Given the description of an element on the screen output the (x, y) to click on. 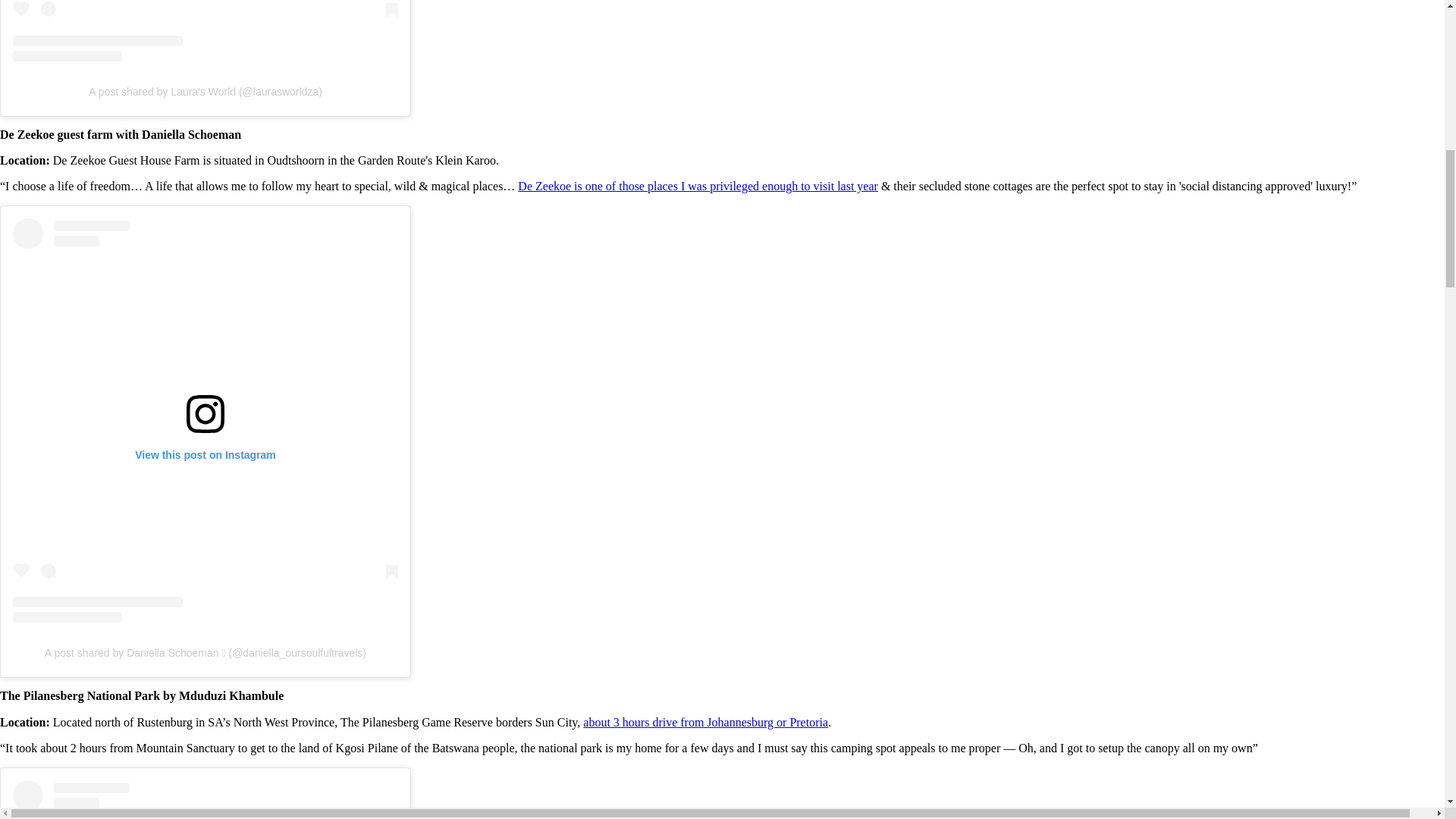
View this post on Instagram (205, 799)
View this post on Instagram (205, 30)
about 3 hours drive from Johannesburg or Pretoria (705, 721)
